Given the description of an element on the screen output the (x, y) to click on. 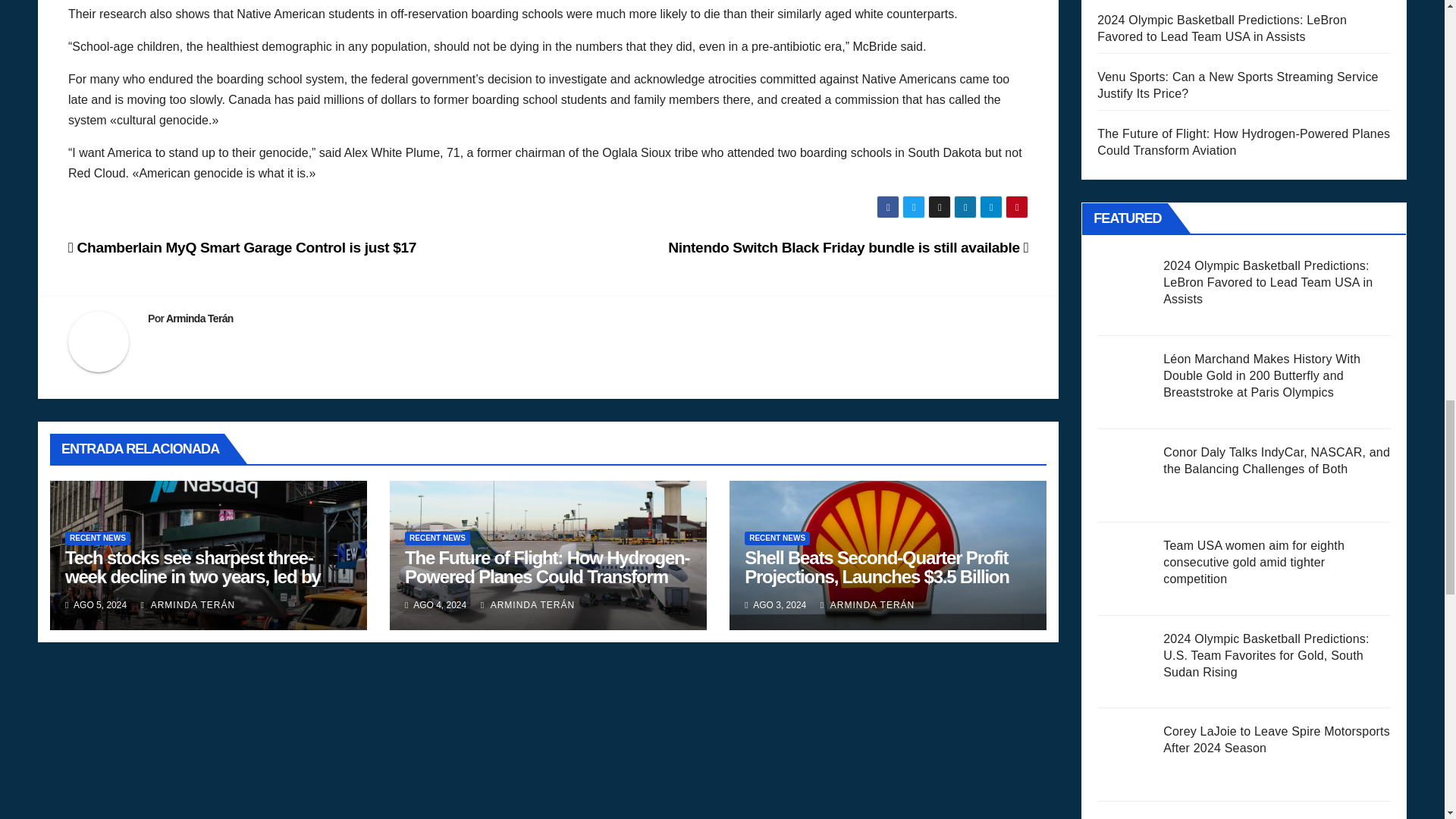
RECENT NEWS (98, 538)
RECENT NEWS (776, 538)
RECENT NEWS (437, 538)
Nintendo Switch Black Friday bundle is still available (847, 247)
